Given the description of an element on the screen output the (x, y) to click on. 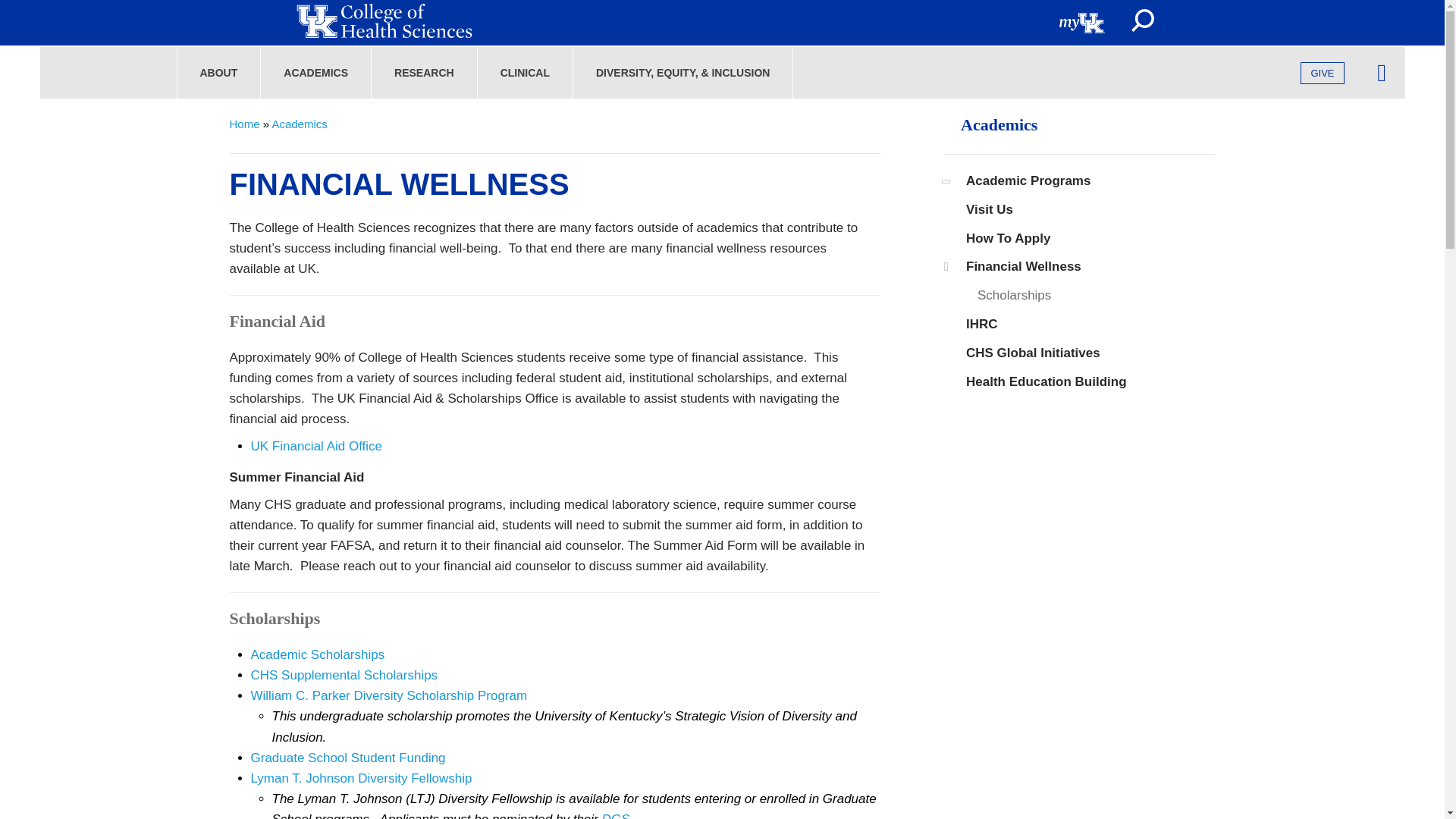
CLINICAL (525, 72)
RESEARCH (424, 72)
ABOUT (219, 72)
myUK (1082, 22)
ACADEMICS (315, 72)
